Given the description of an element on the screen output the (x, y) to click on. 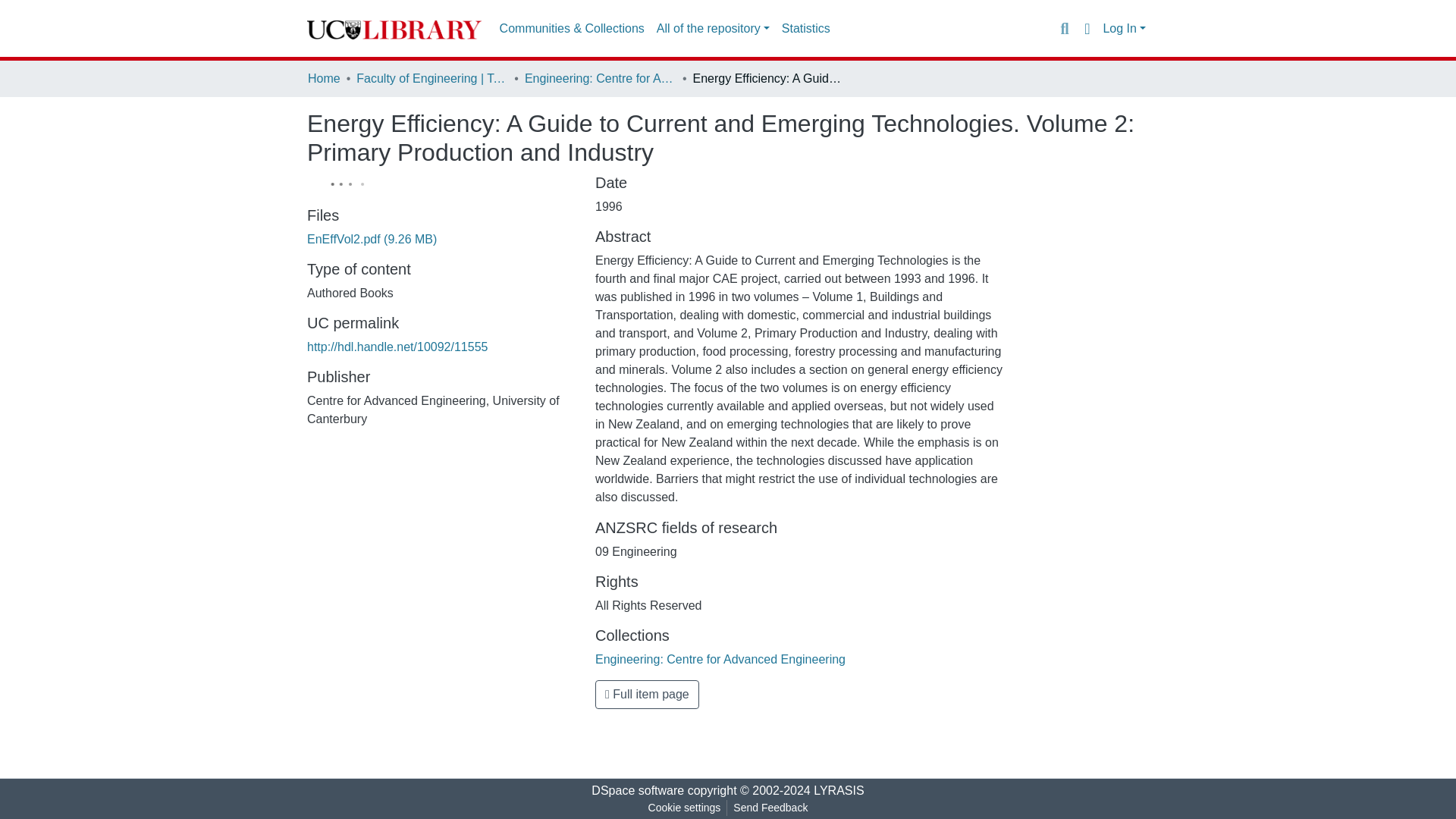
Statistics (805, 28)
Statistics (805, 28)
Full item page (646, 694)
All of the repository (713, 28)
LYRASIS (838, 789)
Send Feedback (769, 807)
DSpace software (637, 789)
Engineering: Centre for Advanced Engineering (720, 658)
Home (323, 78)
Engineering: Centre for Advanced Engineering (600, 78)
